Given the description of an element on the screen output the (x, y) to click on. 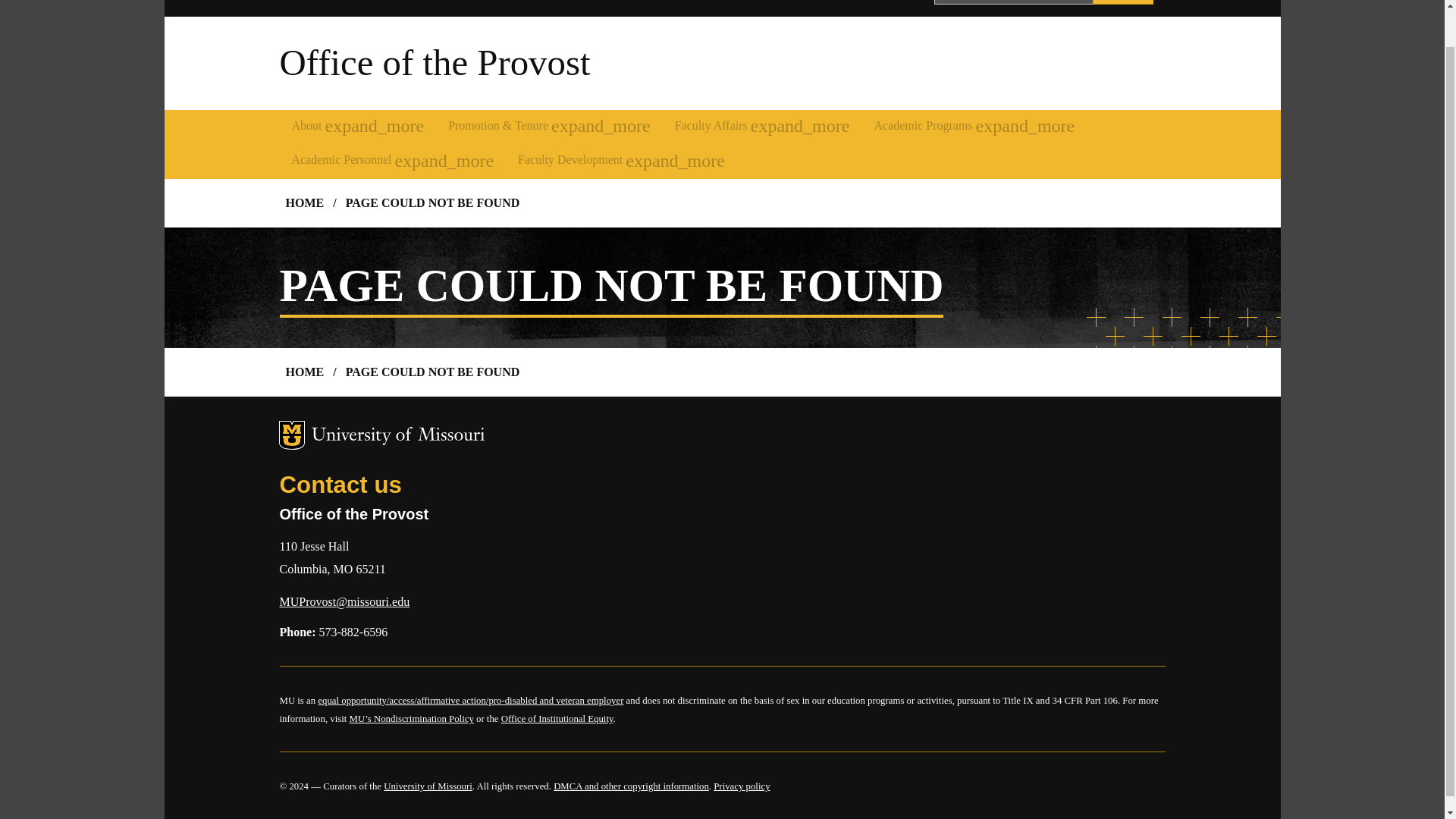
Request an Appearance (757, 2)
Office of the Provost (434, 62)
search (1123, 2)
Office of the Provost (434, 62)
